Given the description of an element on the screen output the (x, y) to click on. 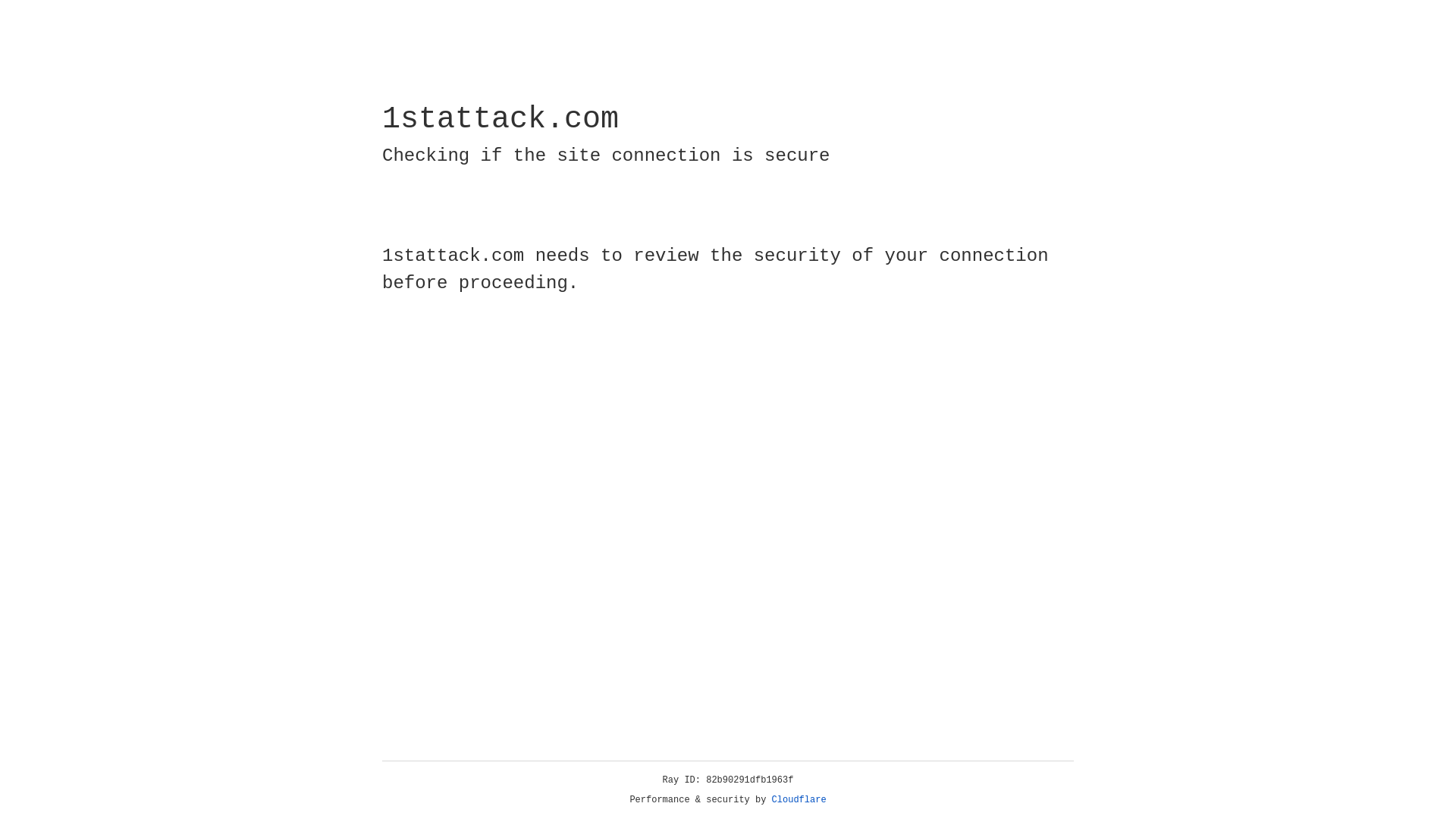
Cloudflare Element type: text (798, 799)
